Given the description of an element on the screen output the (x, y) to click on. 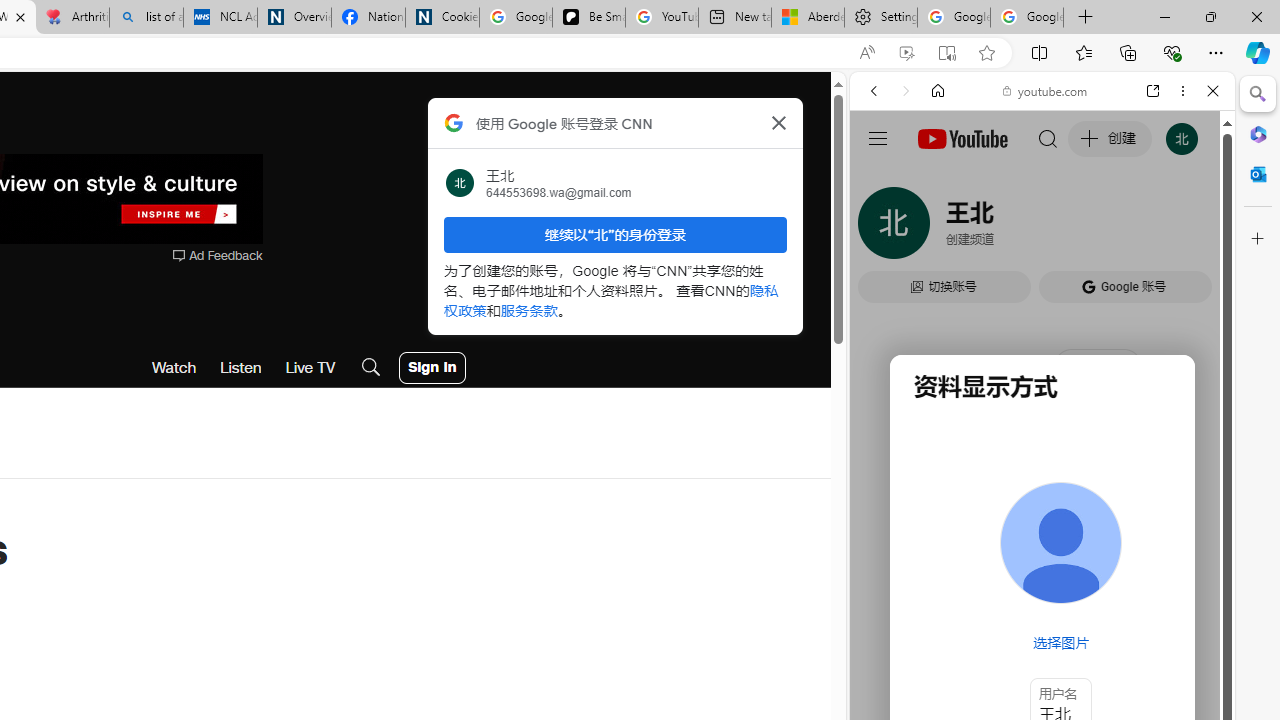
Music (1042, 543)
Enhance video (906, 53)
